Given the description of an element on the screen output the (x, y) to click on. 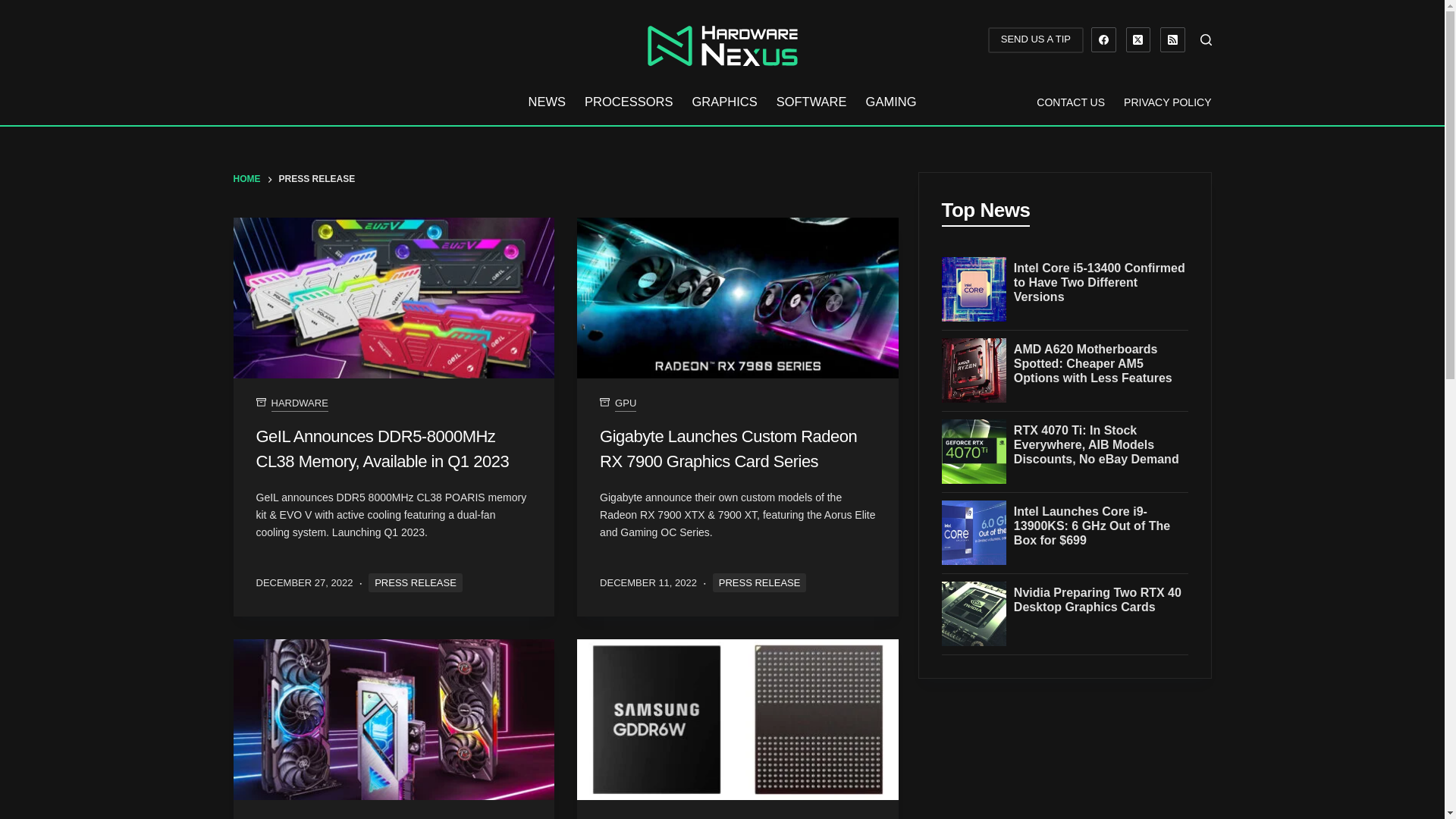
SOFTWARE (811, 102)
NEWS (546, 102)
PROCESSORS (628, 102)
GAMING (891, 102)
Skip to content (15, 7)
CONTACT US (1071, 102)
PRESS RELEASE (415, 582)
PRESS RELEASE (759, 582)
PRIVACY POLICY (1163, 102)
HARDWARE (299, 402)
GPU (625, 402)
GPU (281, 817)
Gigabyte Launches Custom Radeon RX 7900 Graphics Card Series (728, 448)
SEND US A TIP (1035, 40)
